Given the description of an element on the screen output the (x, y) to click on. 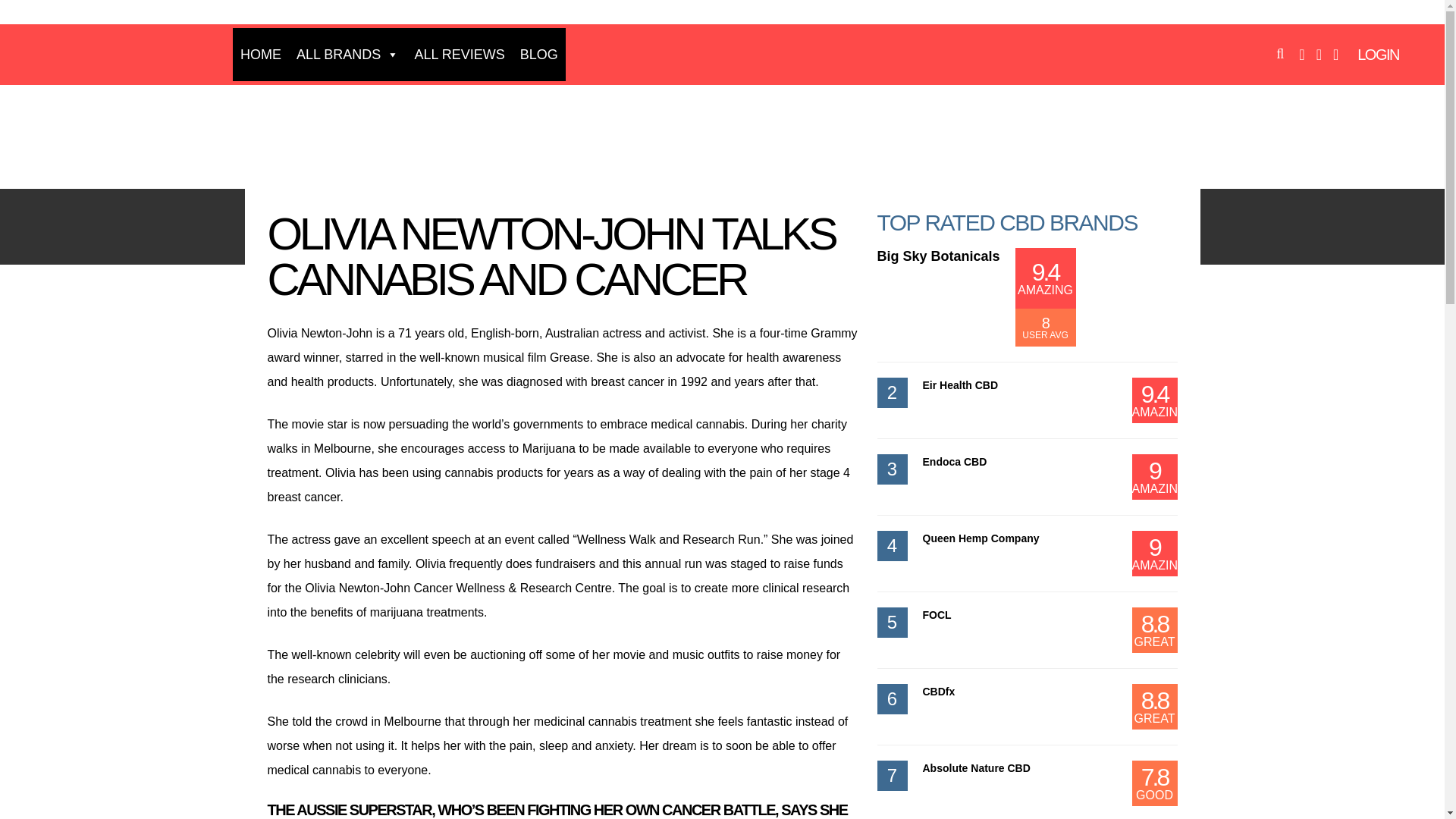
Big Sky Botanicals (937, 255)
HOME (260, 54)
BLOG (539, 54)
ALL BRANDS (347, 54)
Best CBD List (127, 133)
Eir Health CBD (959, 385)
LOGIN (1377, 54)
ALL REVIEWS (459, 54)
